Given the description of an element on the screen output the (x, y) to click on. 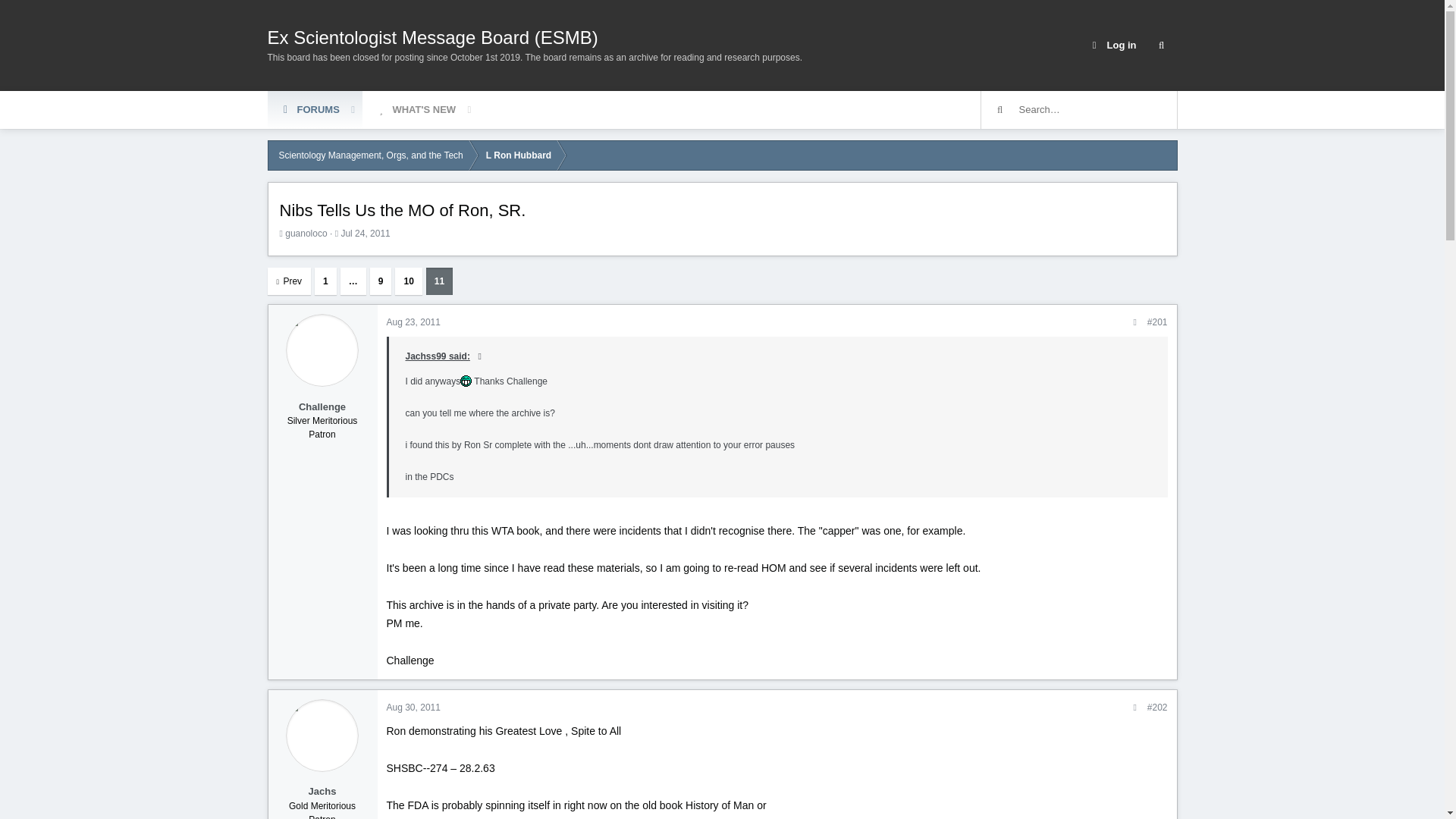
Jul 24, 2011 at 10:43 AM (365, 233)
Log in (1111, 45)
Jul 24, 2011 (365, 233)
Scientology Management, Orgs, and the Tech (370, 155)
L Ron Hubbard (518, 155)
guanoloco (305, 233)
WHAT'S NEW (414, 109)
10 (408, 280)
Go to page (372, 109)
11 (353, 280)
Search (439, 280)
Aug 30, 2011 at 6:12 PM (372, 109)
FORUMS (1160, 45)
